Given the description of an element on the screen output the (x, y) to click on. 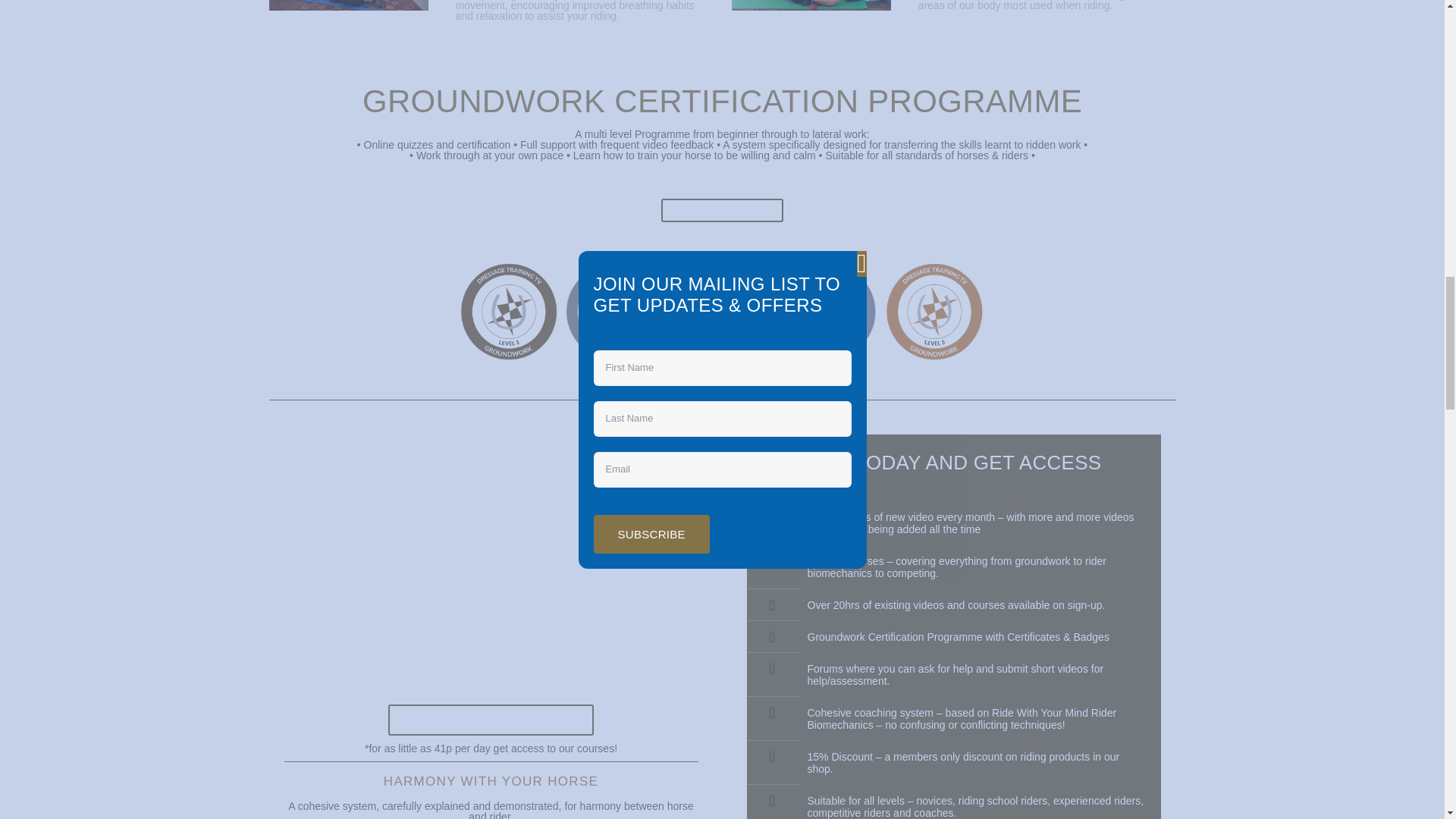
FIND OUT MORE... (722, 210)
BECOME A MEMBER TODAY (491, 719)
